Given the description of an element on the screen output the (x, y) to click on. 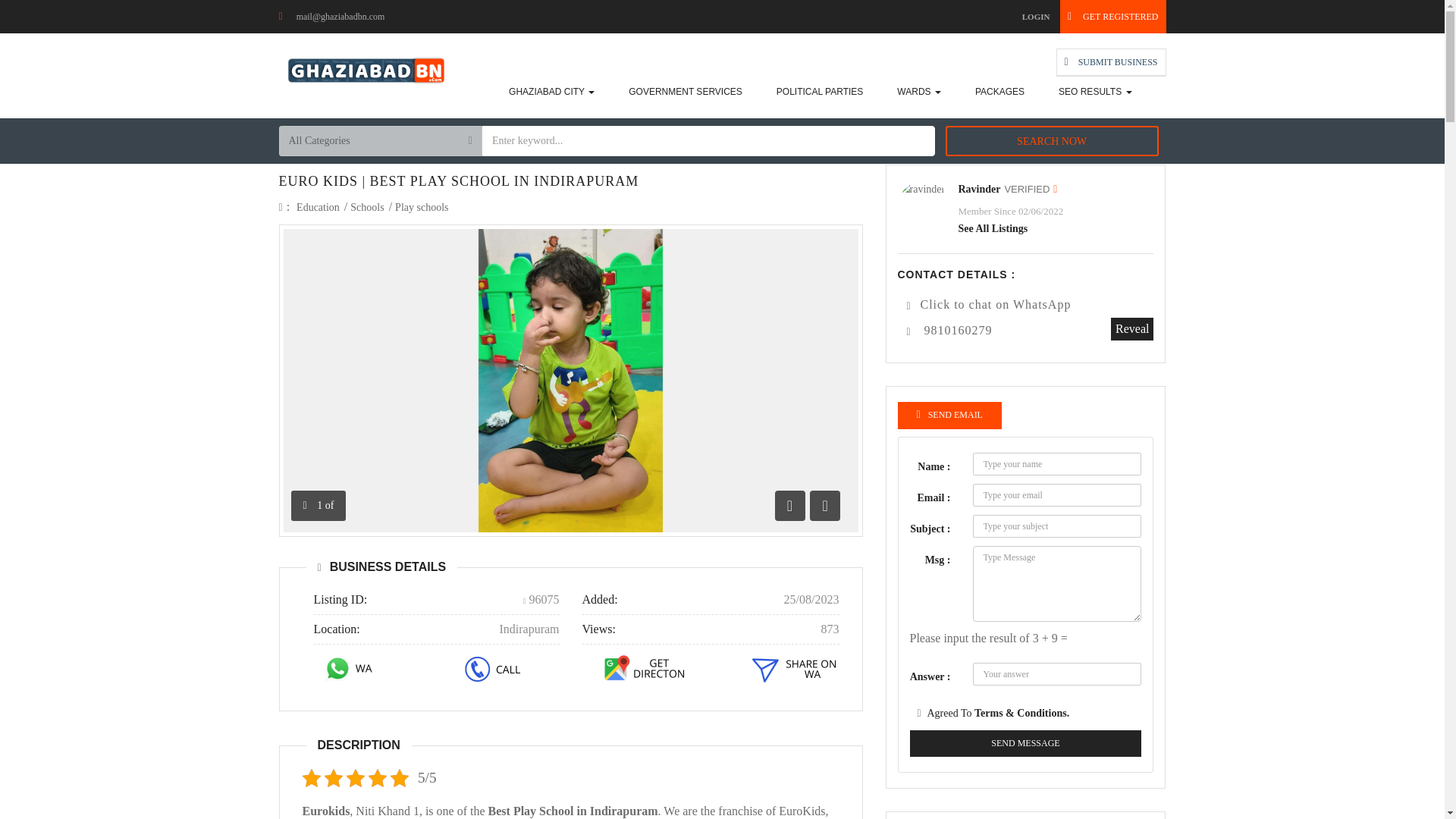
SUBMIT BUSINESS (1111, 62)
GET REGISTERED (1112, 16)
LOGIN (1036, 16)
GHAZIABAD CITY (551, 91)
